Given the description of an element on the screen output the (x, y) to click on. 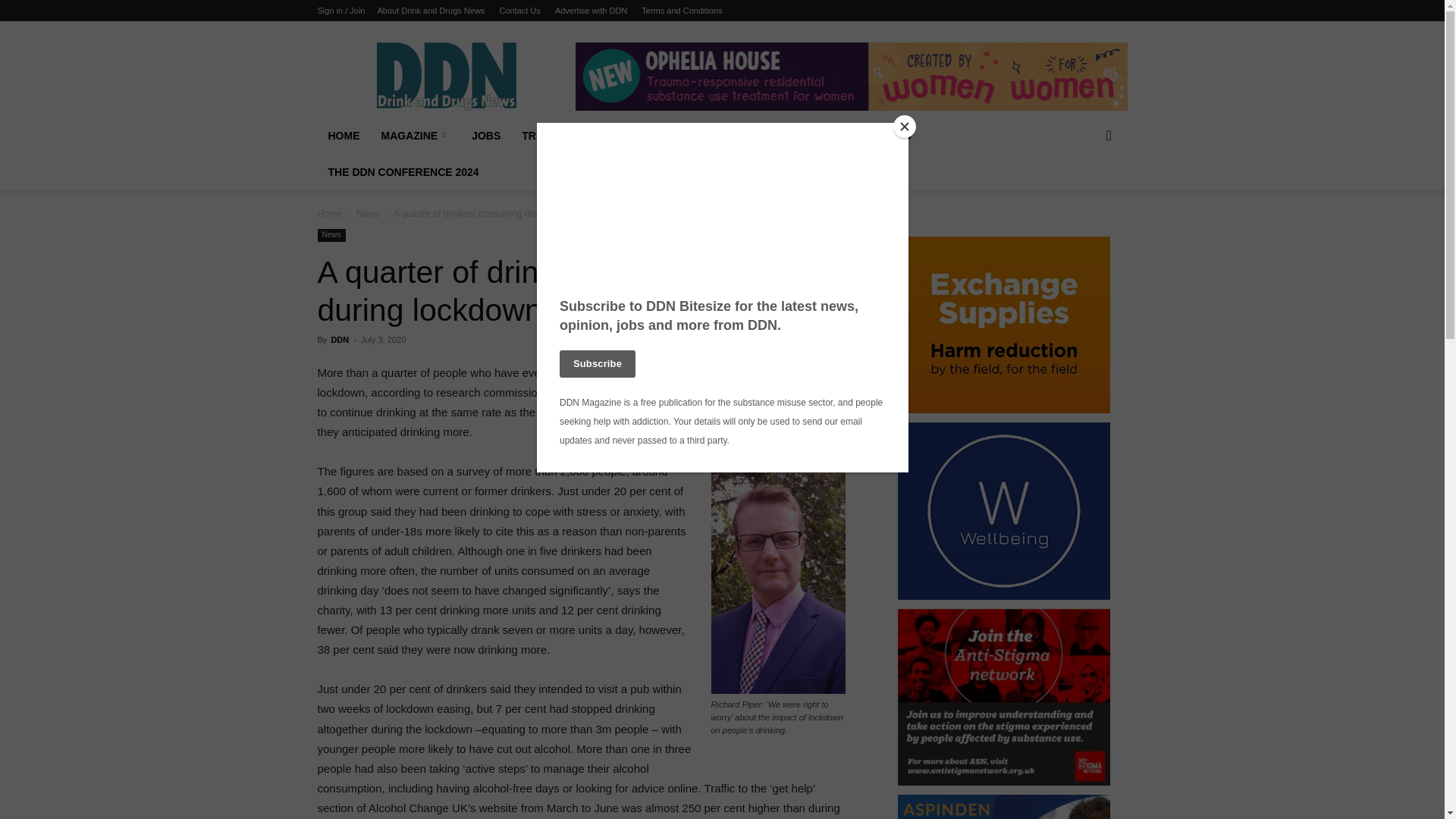
Terms and Conditions (682, 10)
Contact Us (519, 10)
Advertise with DDN (590, 10)
View all posts in News (367, 213)
About Drink and Drugs News (430, 10)
